Given the description of an element on the screen output the (x, y) to click on. 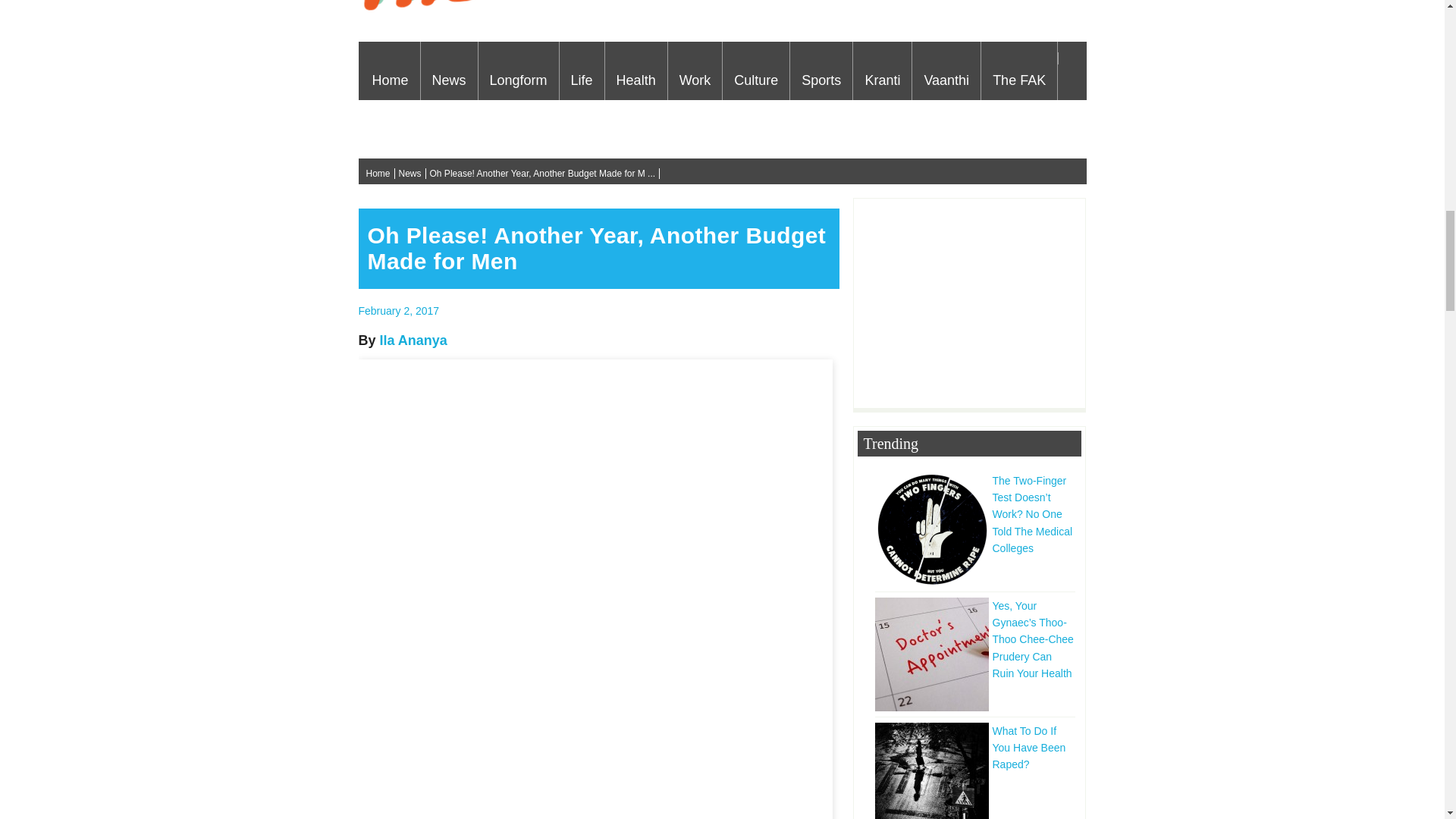
Home (390, 69)
What To Do If You Have Been Raped? (975, 747)
Culture (755, 69)
News (448, 69)
Oh Please! Another Year, Another Budget Made for Men (398, 310)
Sports (820, 69)
About (390, 128)
Longform (519, 69)
What To Do If You Have Been Raped? (933, 770)
The FAK (1019, 69)
